Given the description of an element on the screen output the (x, y) to click on. 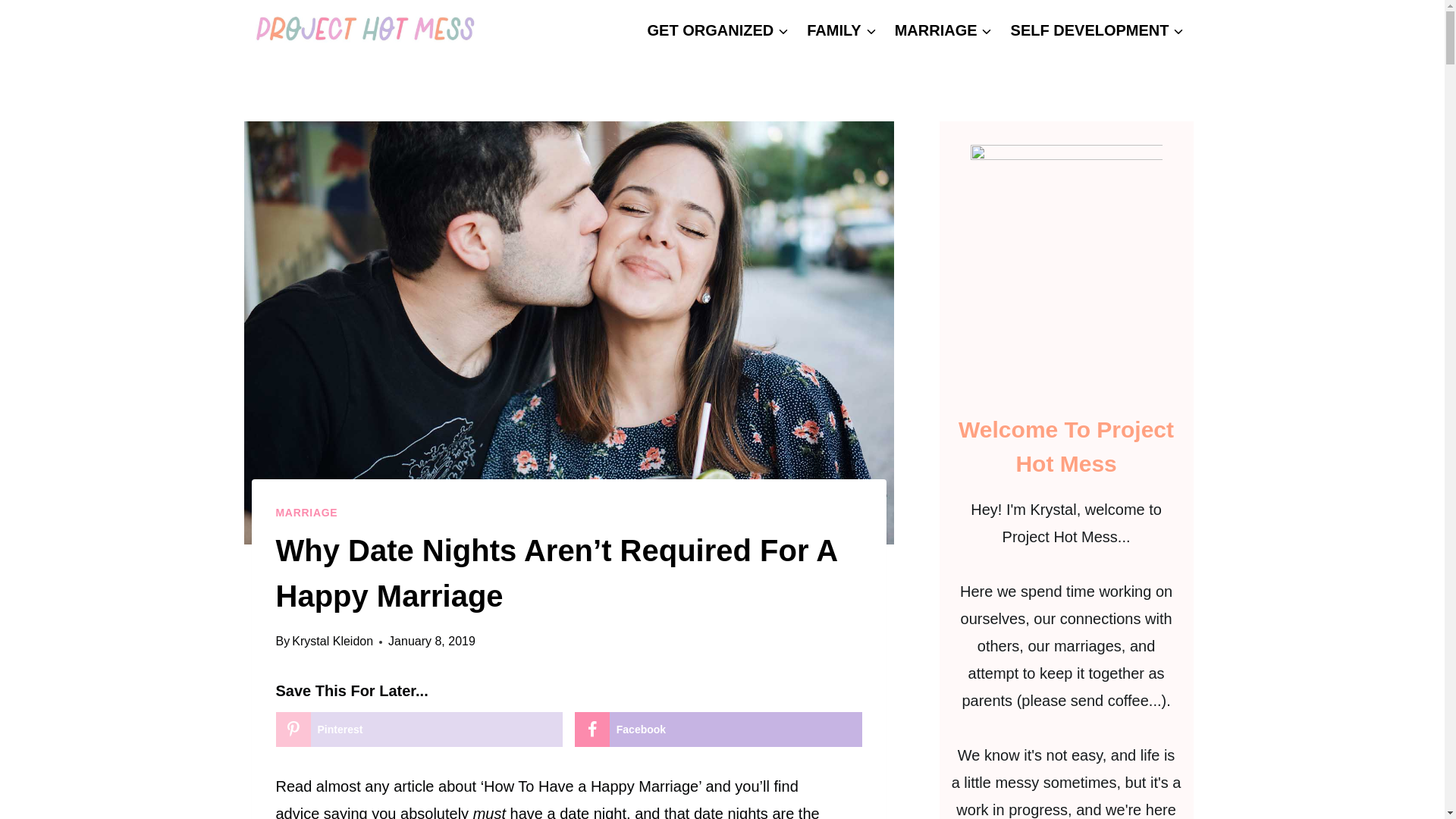
GET ORGANIZED (718, 30)
MARRIAGE (306, 512)
MARRIAGE (943, 30)
FAMILY (841, 30)
Pinterest (419, 728)
Share on Facebook (718, 728)
Facebook (718, 728)
Krystal Kleidon (332, 640)
Save to Pinterest (419, 728)
SELF DEVELOPMENT (1097, 30)
